Given the description of an element on the screen output the (x, y) to click on. 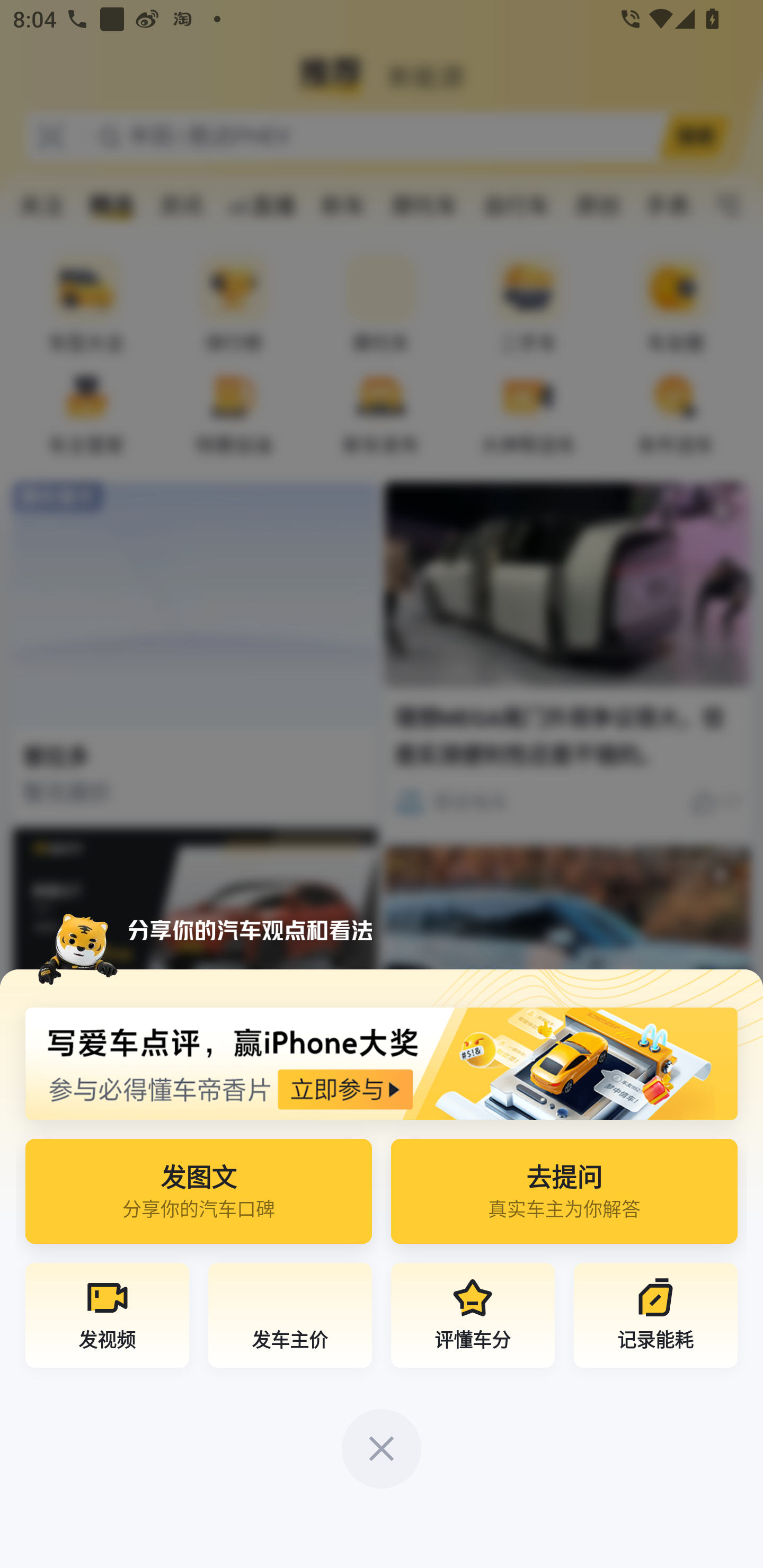
发图文 分享你的汽车口碑 (198, 1196)
去提问 真实车主为你解答 (563, 1196)
发视频 (107, 1317)
发车主价 (289, 1317)
评懂车分 (472, 1317)
记录能耗 (655, 1317)
 (381, 1448)
